Given the description of an element on the screen output the (x, y) to click on. 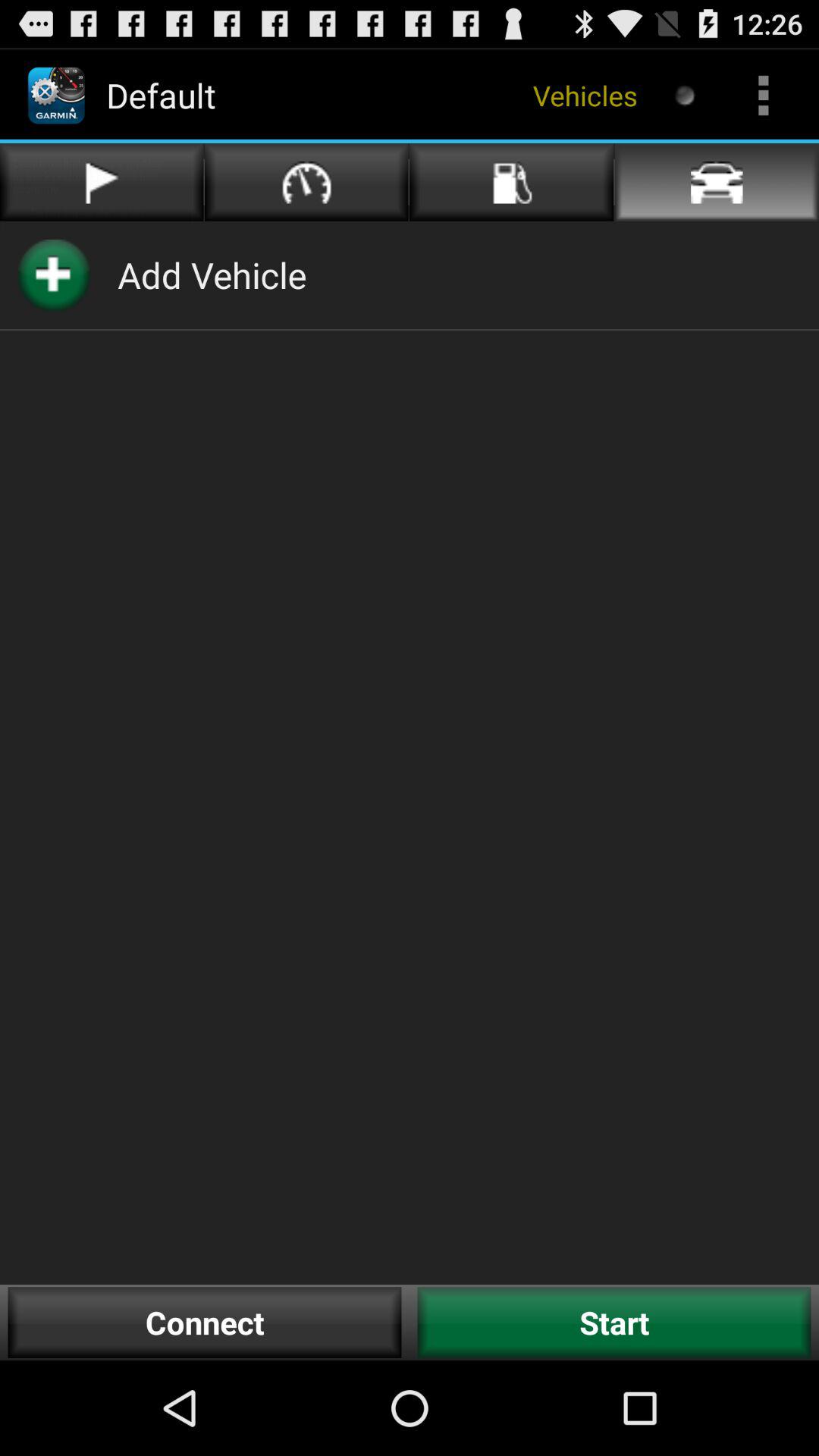
scroll to the add vehicle app (211, 274)
